Given the description of an element on the screen output the (x, y) to click on. 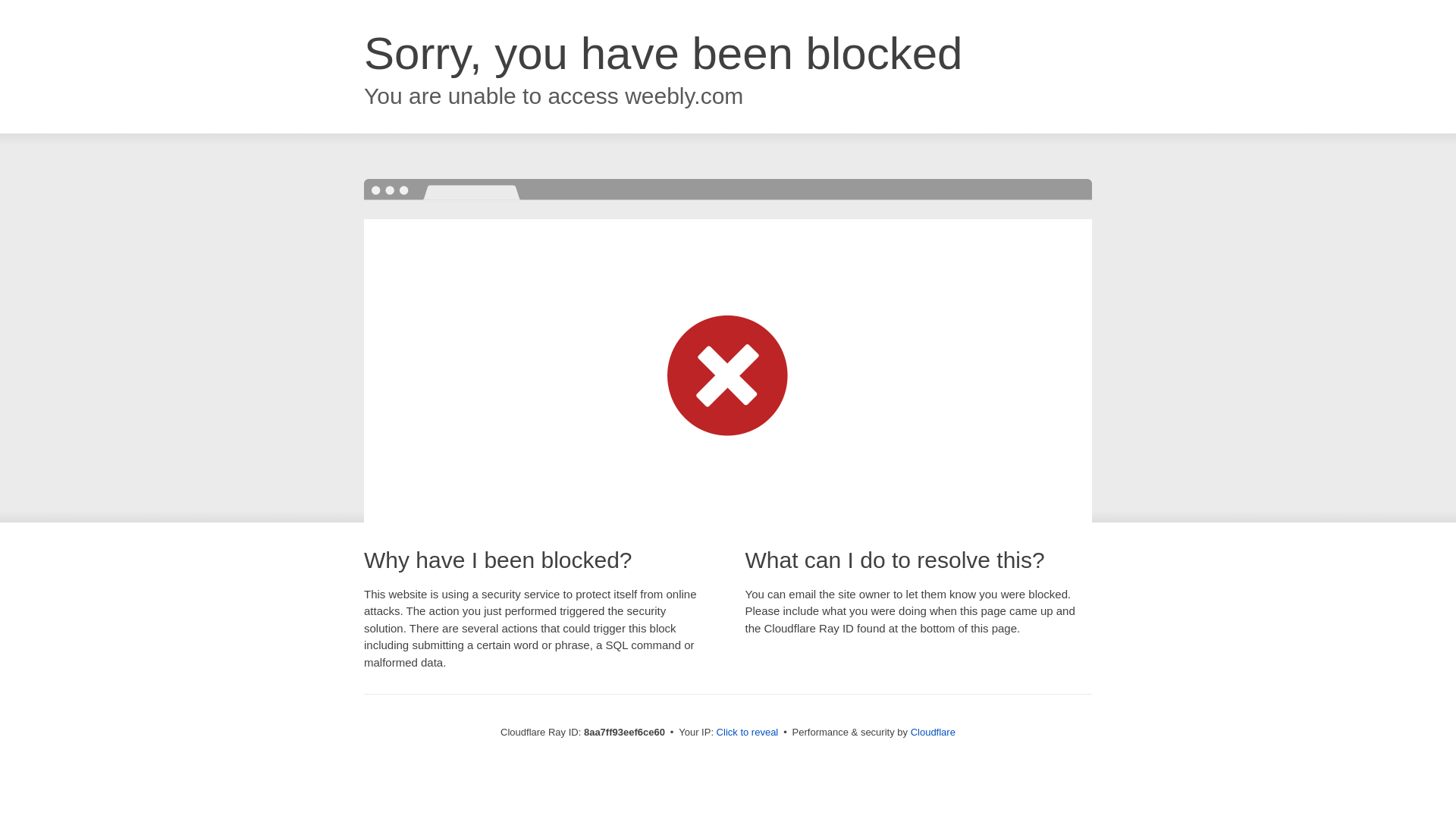
Click to reveal (747, 732)
Cloudflare (933, 731)
